Given the description of an element on the screen output the (x, y) to click on. 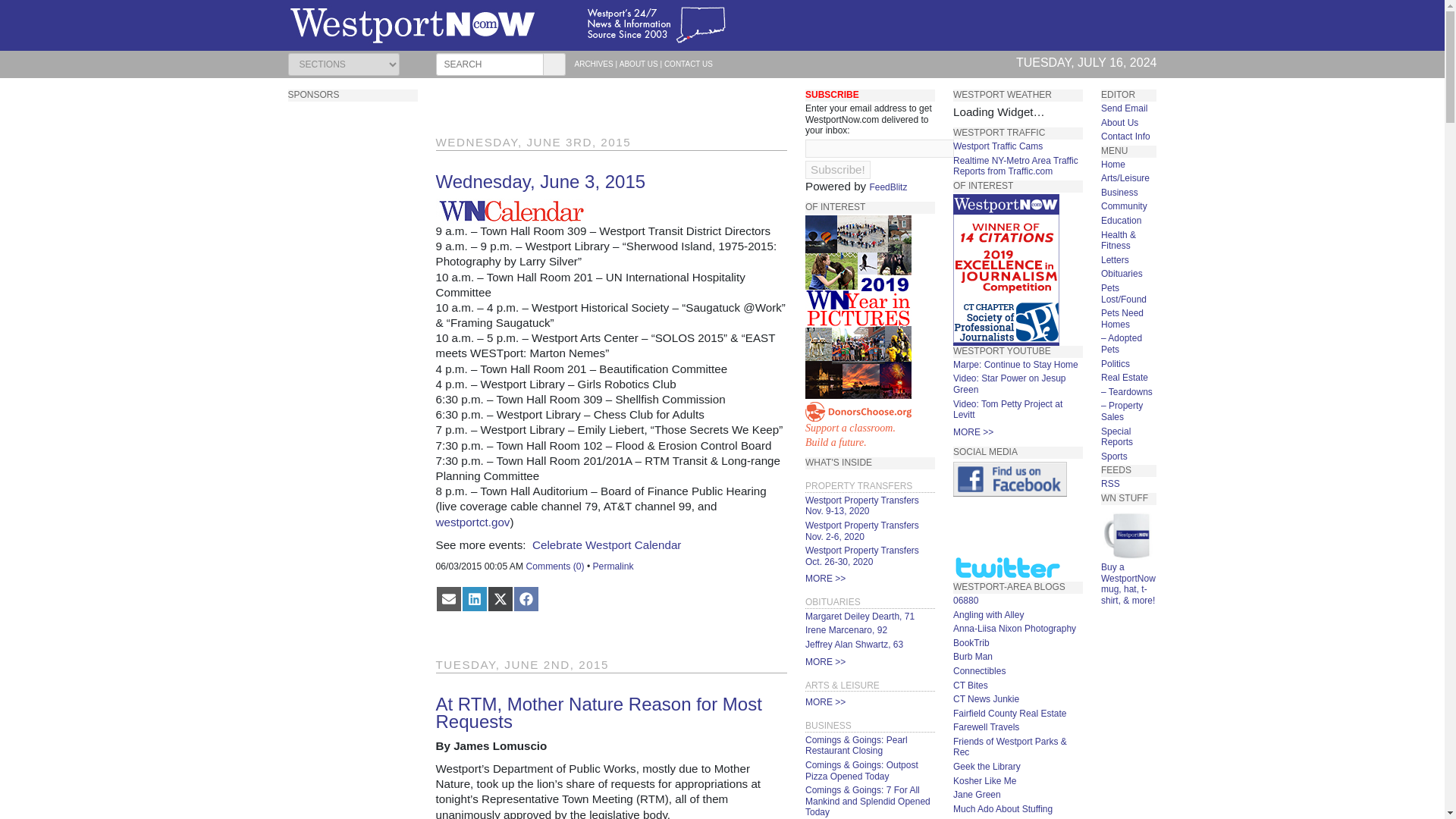
ARCHIVES (593, 63)
ABOUT US (639, 63)
Subscribe! (837, 169)
westportct.gov (472, 521)
CONTACT US (688, 63)
Share on LinkedIn (473, 598)
westportct.gov (472, 521)
Share on Facebook (525, 598)
Celebrate Westport Calendar (606, 544)
At RTM, Mother Nature Reason for Most Requests (598, 712)
Permalink (612, 566)
Wednesday, June 3, 2015 (540, 181)
Search for: (489, 64)
Share on Email (448, 598)
